Given the description of an element on the screen output the (x, y) to click on. 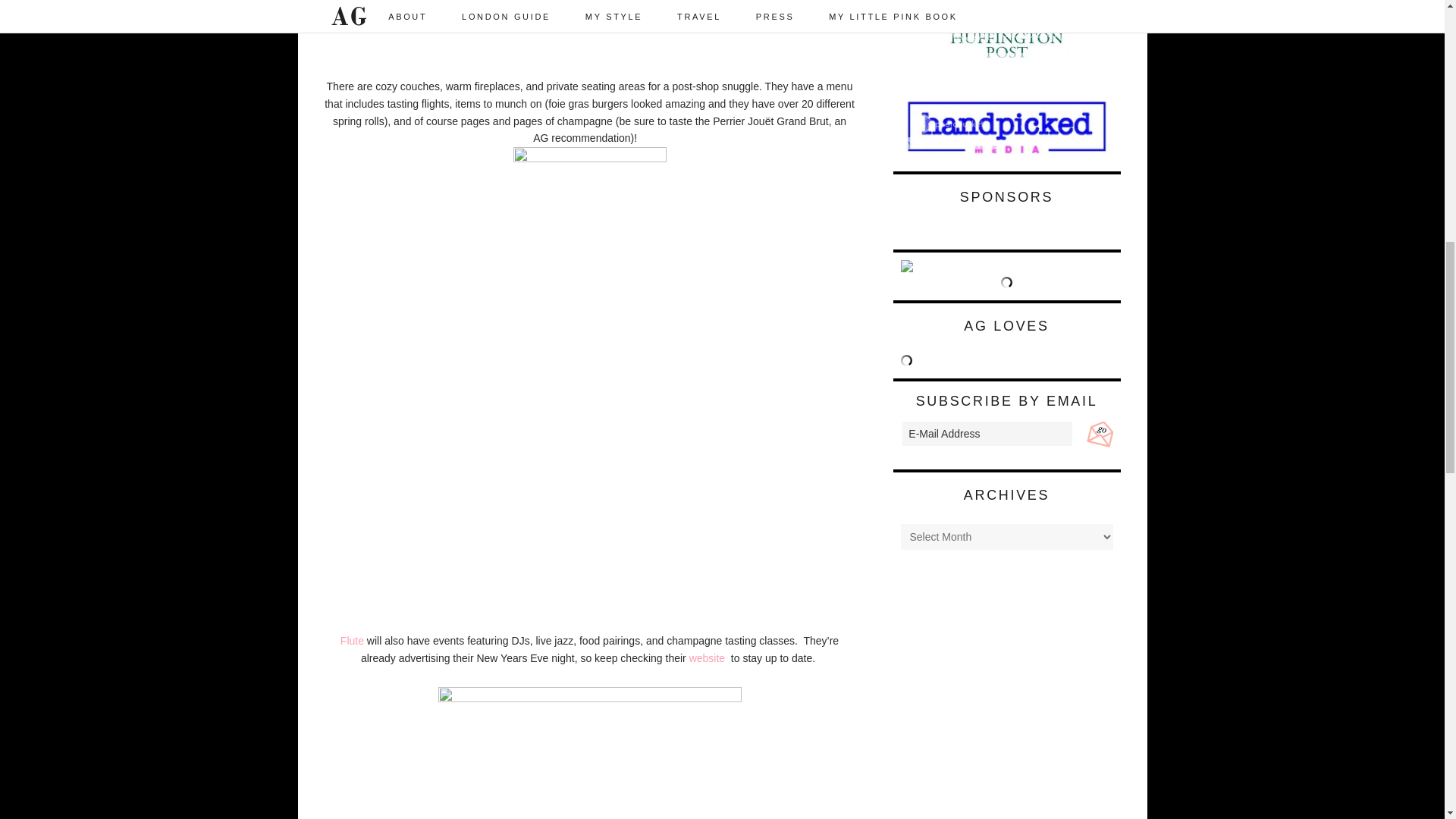
Go (1098, 433)
website (708, 657)
Flute (352, 640)
